Given the description of an element on the screen output the (x, y) to click on. 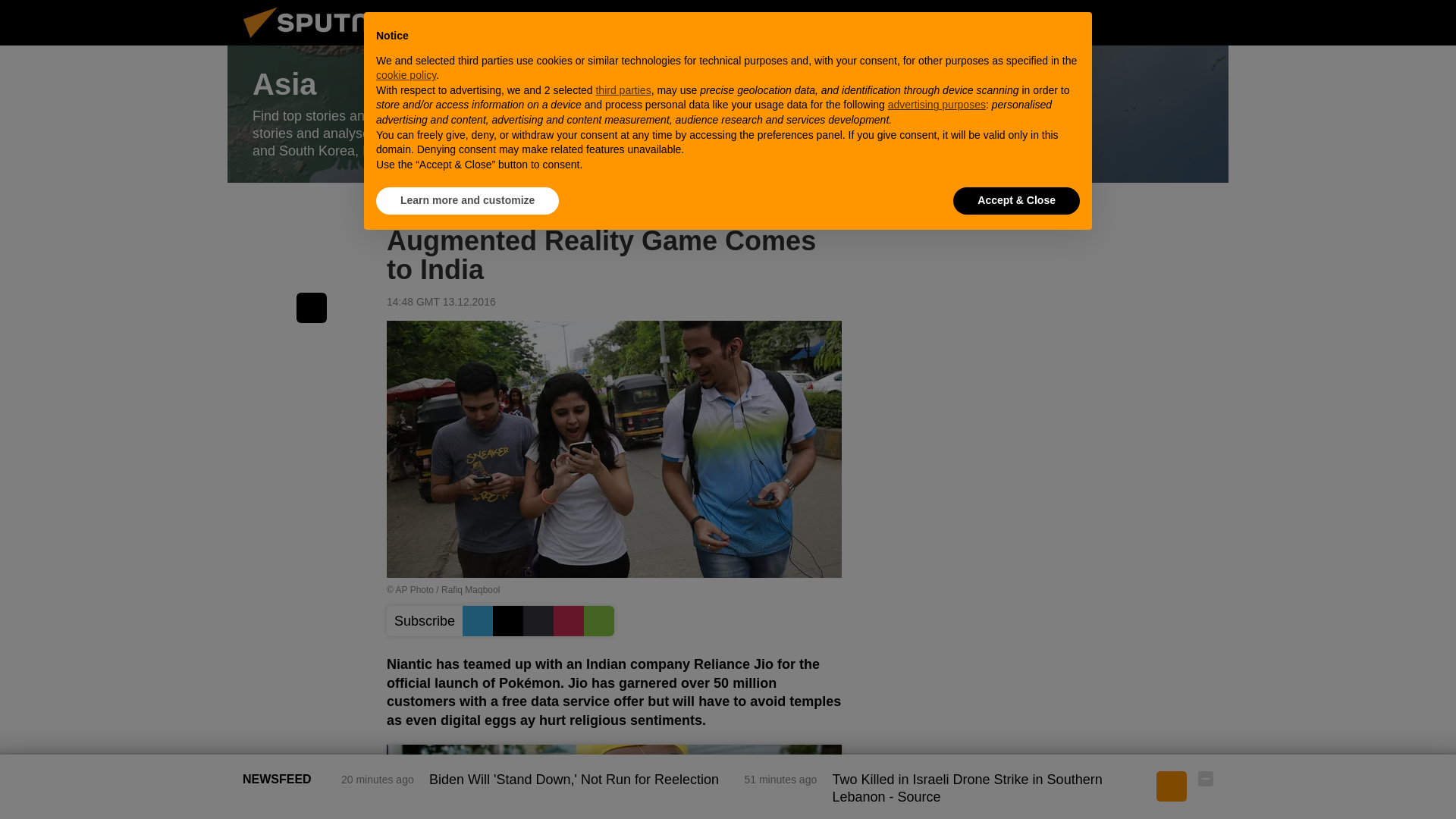
Sputnik International (325, 41)
Authorization (1129, 22)
Chats (1206, 22)
